Given the description of an element on the screen output the (x, y) to click on. 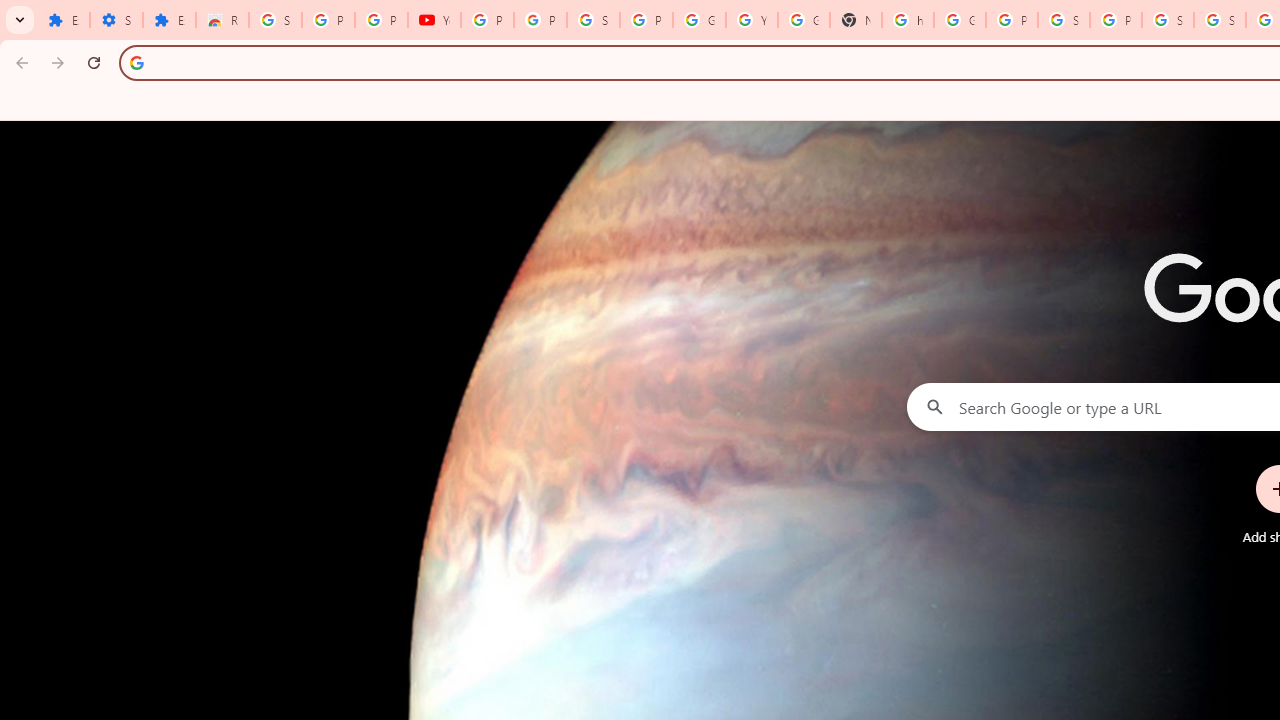
Sign in - Google Accounts (1219, 20)
Reviews: Helix Fruit Jump Arcade Game (222, 20)
https://scholar.google.com/ (907, 20)
